Given the description of an element on the screen output the (x, y) to click on. 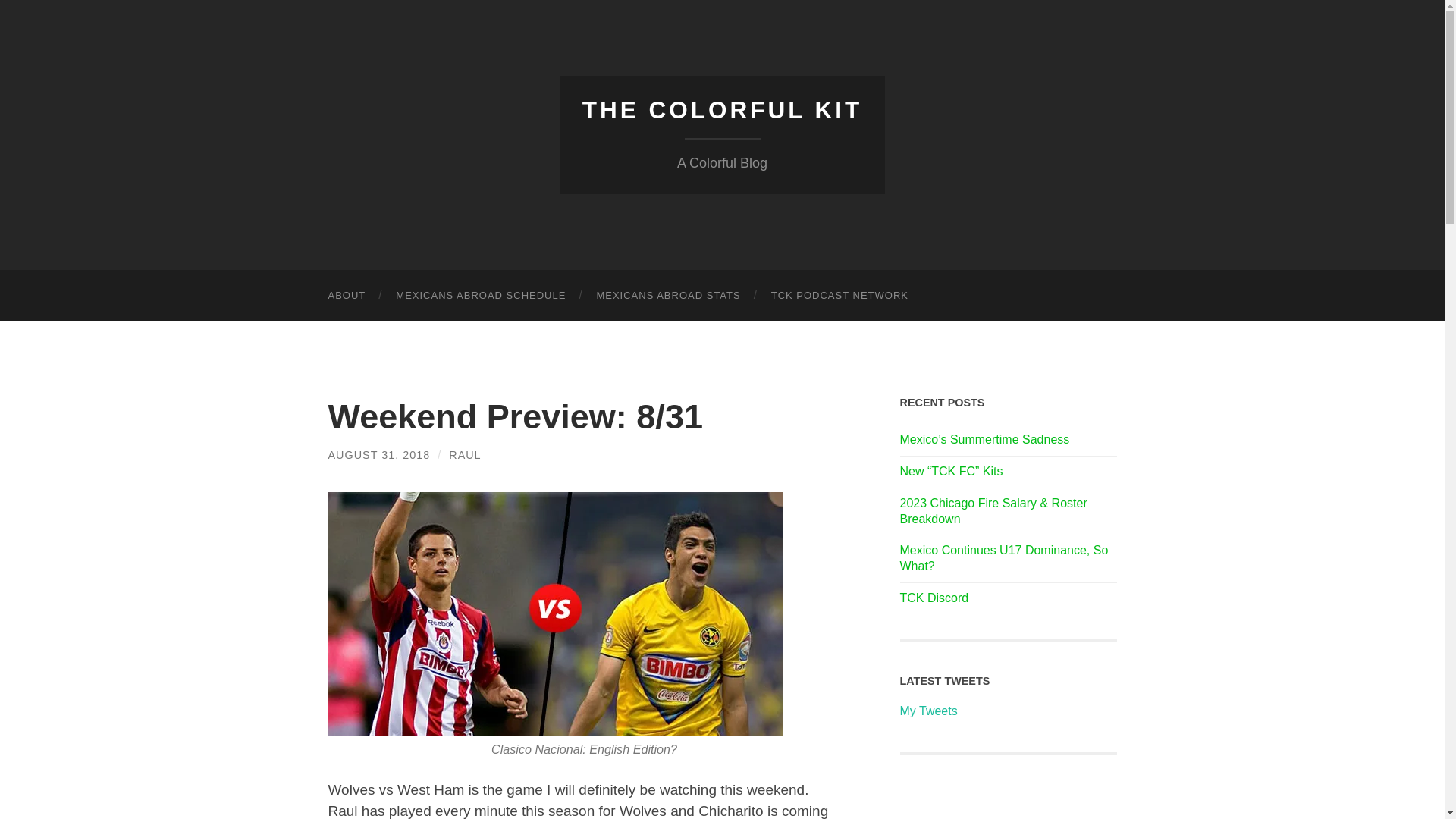
ABOUT (346, 295)
THE COLORFUL KIT (722, 109)
TCK PODCAST NETWORK (839, 295)
MEXICANS ABROAD SCHEDULE (480, 295)
MEXICANS ABROAD STATS (667, 295)
RAUL (464, 454)
AUGUST 31, 2018 (378, 454)
Posts by Raul (464, 454)
My Tweets (927, 710)
TCK Discord (1007, 598)
